Given the description of an element on the screen output the (x, y) to click on. 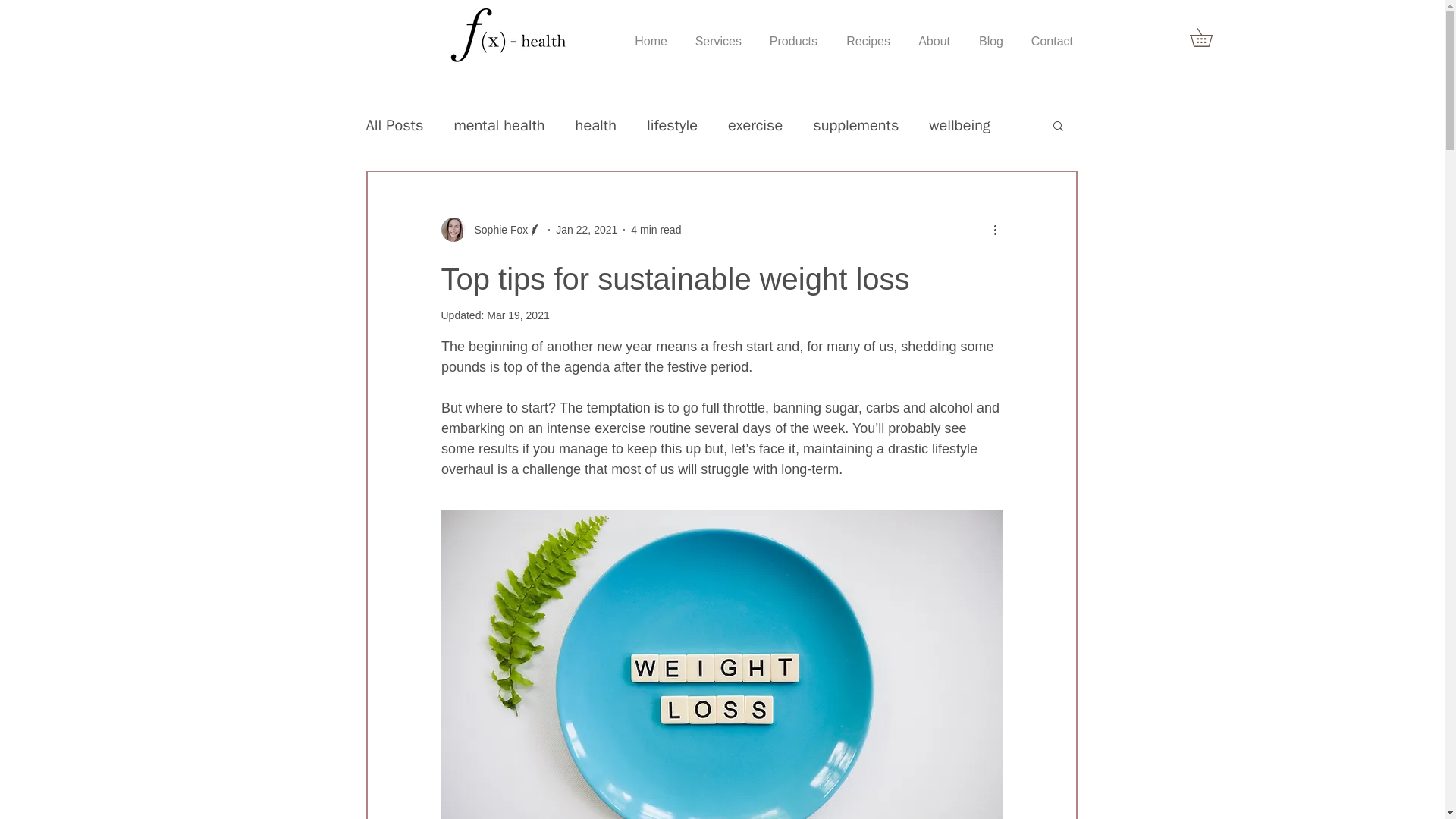
Mar 19, 2021 (518, 315)
lifestyle (671, 125)
All Posts (394, 125)
Blog (989, 34)
About (933, 34)
Jan 22, 2021 (586, 228)
Sophie Fox (496, 229)
health (595, 125)
Home (651, 34)
exercise (755, 125)
mental health (498, 125)
Recipes (867, 34)
Sophie Fox (492, 229)
4 min read (655, 228)
wellbeing (959, 125)
